Given the description of an element on the screen output the (x, y) to click on. 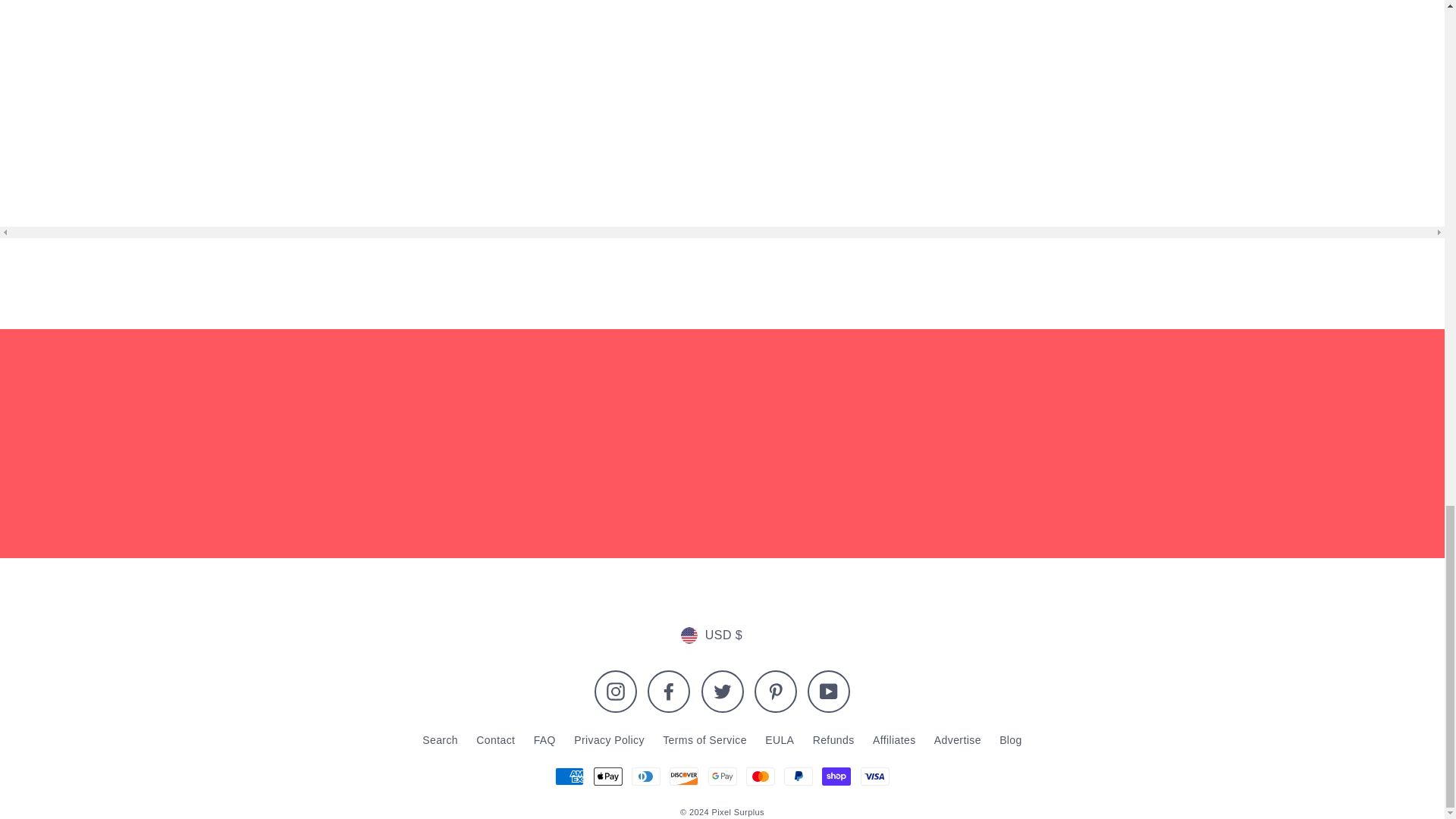
Pixel Surplus on Pinterest (775, 691)
Pixel Surplus on Facebook (668, 691)
Shop Pay (836, 776)
Apple Pay (608, 776)
Discover (683, 776)
Diners Club (646, 776)
Google Pay (721, 776)
Mastercard (759, 776)
PayPal (798, 776)
Pixel Surplus on Instagram (615, 691)
